Given the description of an element on the screen output the (x, y) to click on. 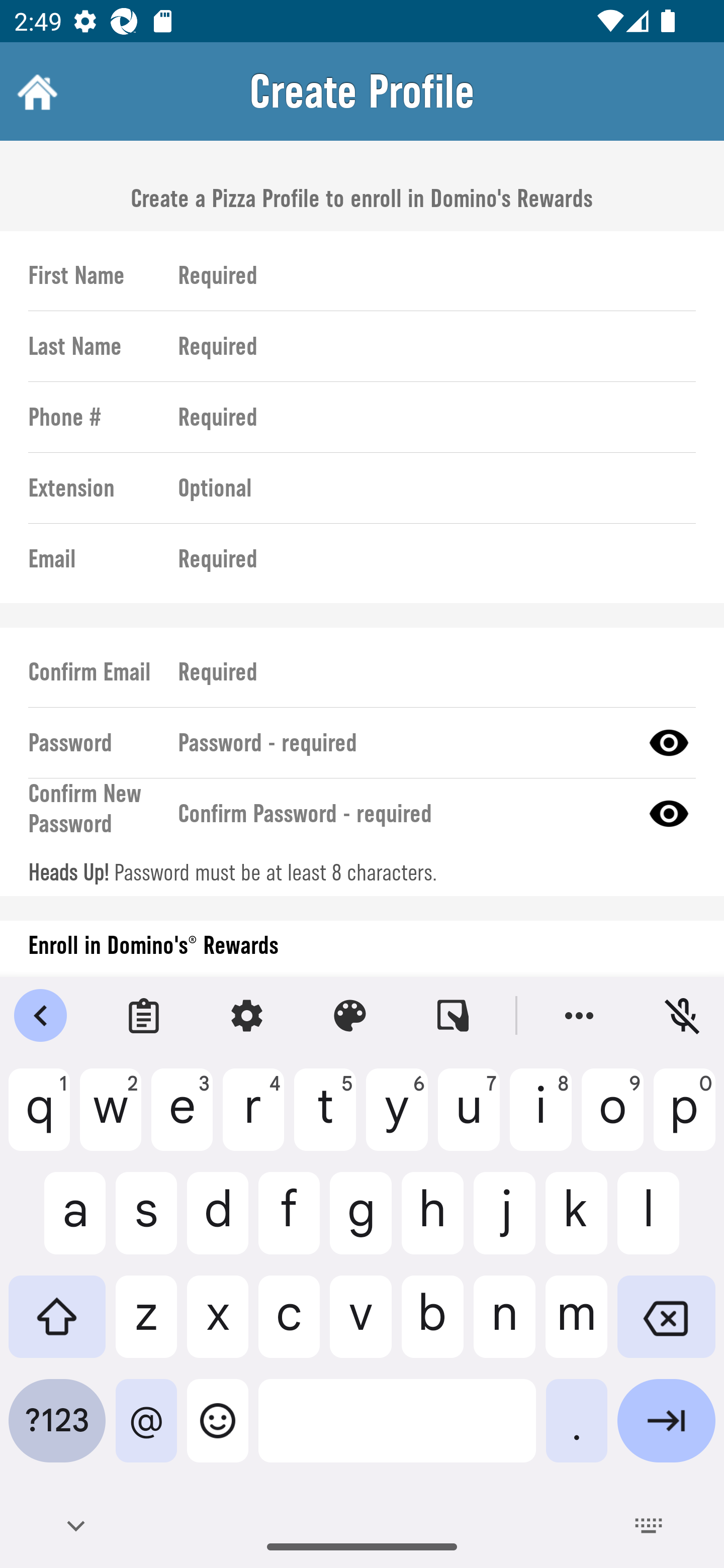
Home (35, 91)
Required First Name is required. 
 (427, 274)
Required Last Name is required. 
 (427, 345)
Required Phone Number is required. 
 (427, 416)
Optional Phone extension, optional (427, 488)
Required Email is required. 
 (427, 558)
Required Confirm Email Address (427, 671)
Password - required (401, 742)
Show Password (668, 742)
Confirm Password - required (401, 812)
Show Password (668, 812)
